Given the description of an element on the screen output the (x, y) to click on. 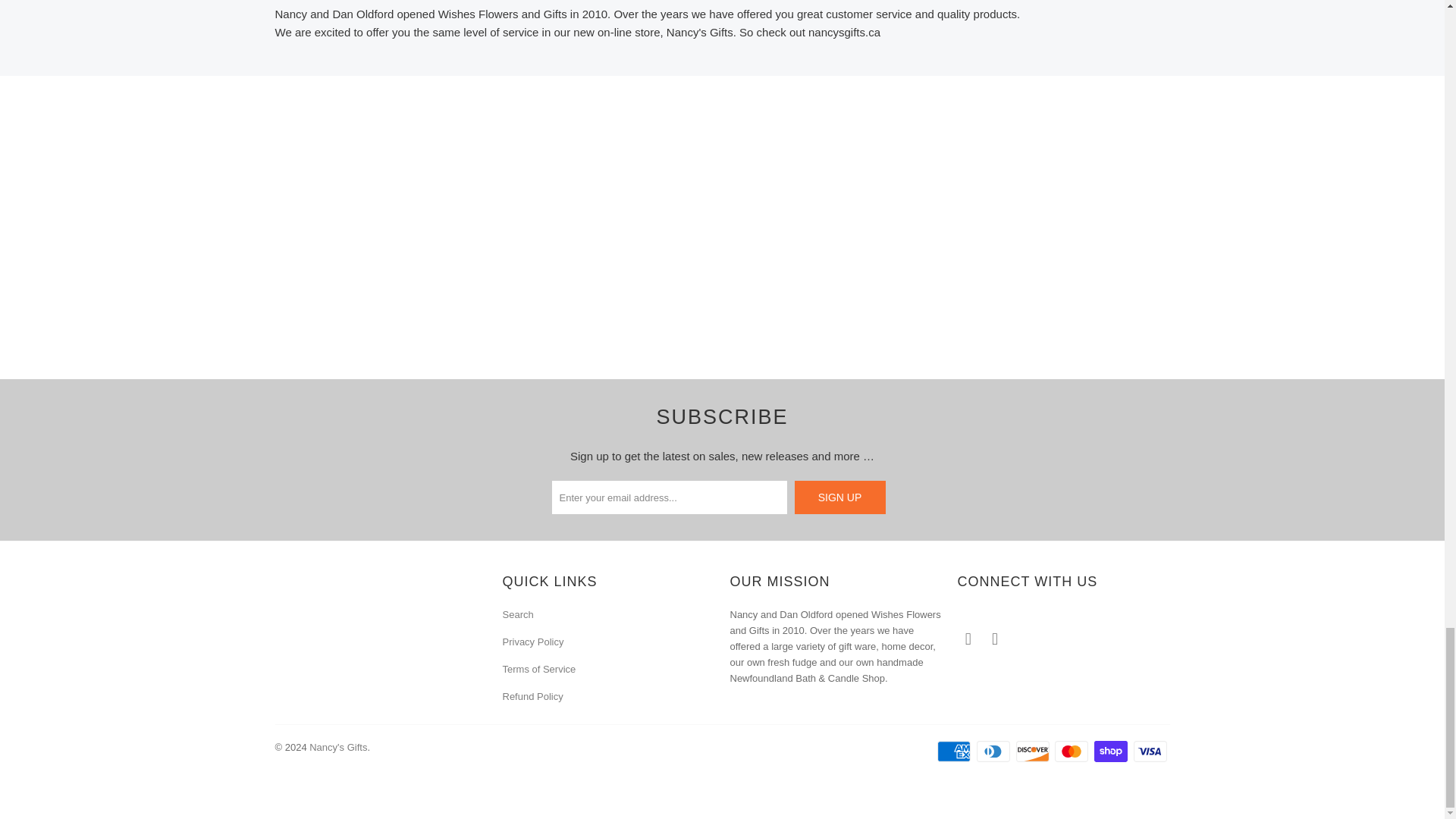
Nancy's Gifts on Facebook (967, 638)
American Express (955, 751)
Visa (1150, 751)
Nancy's Gifts on Instagram (995, 638)
Diners Club (994, 751)
Discover (1034, 751)
Sign Up (839, 497)
Mastercard (1072, 751)
Shop Pay (1112, 751)
